Given the description of an element on the screen output the (x, y) to click on. 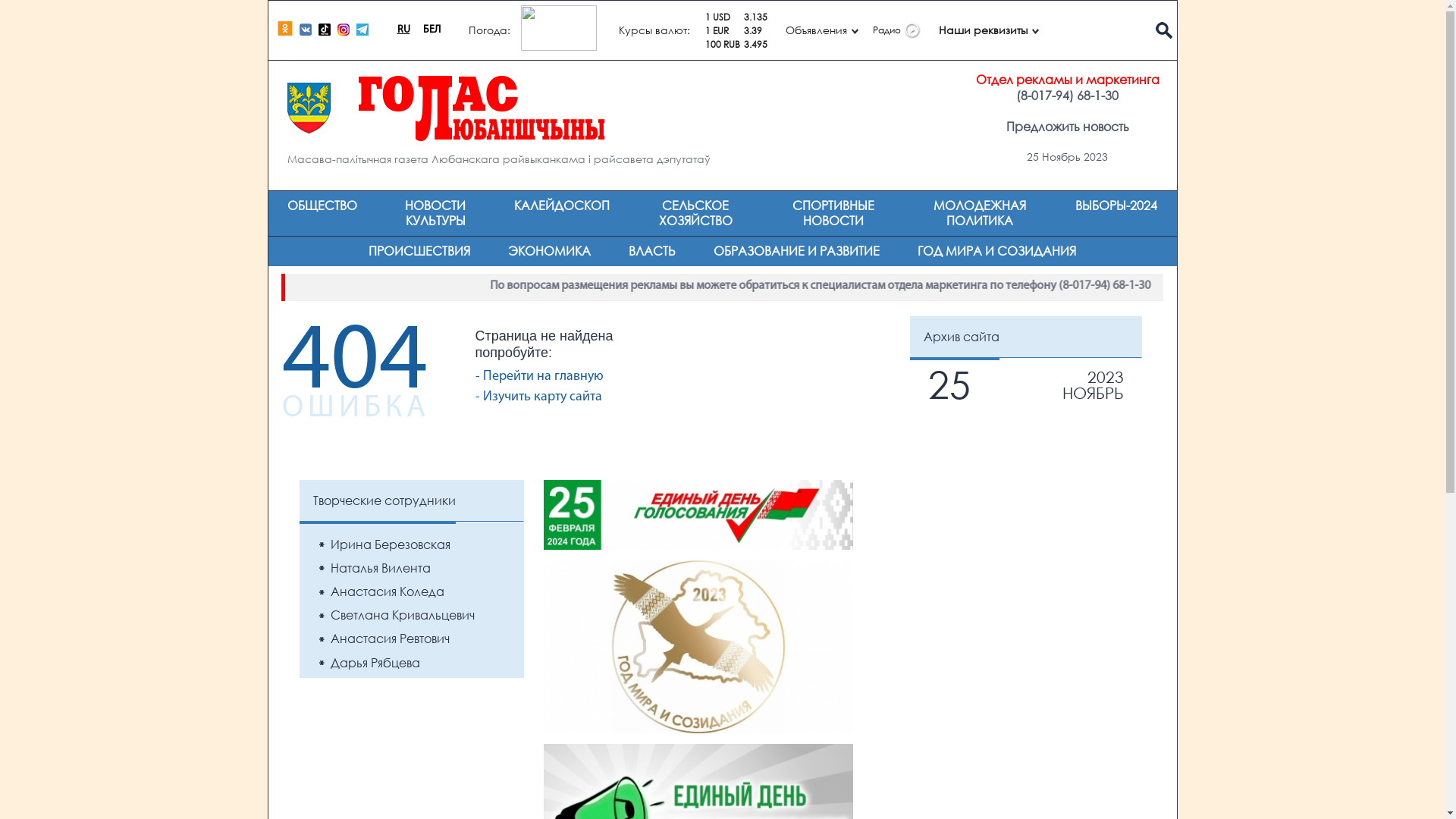
Instagram Element type: hover (345, 32)
RU Element type: text (403, 29)
Instagram Element type: hover (342, 28)
Telegram Element type: hover (364, 32)
Telegram Element type: hover (362, 28)
vk.com Element type: hover (304, 28)
ok.ru Element type: hover (288, 32)
ok.ru Element type: hover (284, 28)
vk.com Element type: hover (307, 32)
